Given the description of an element on the screen output the (x, y) to click on. 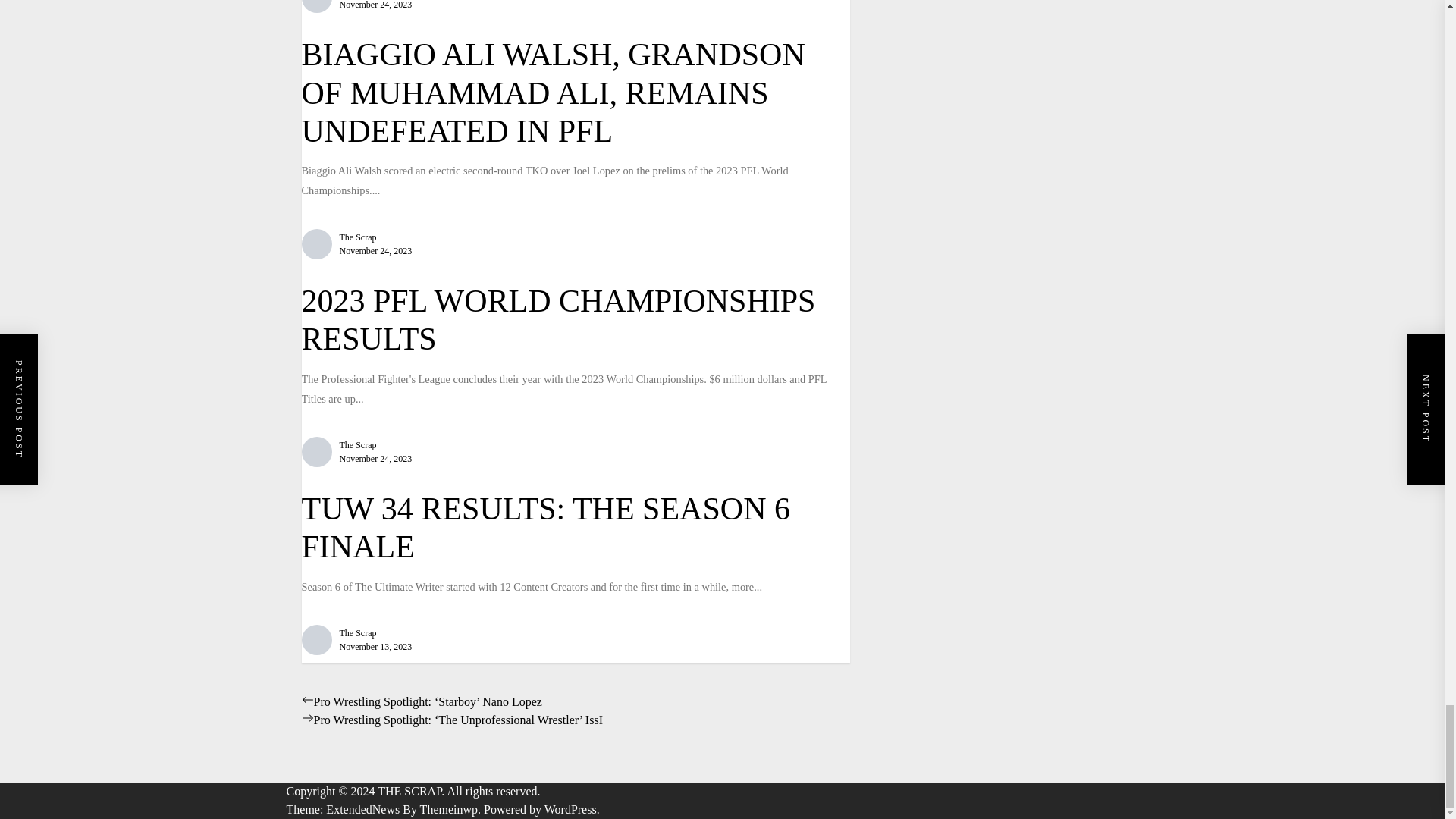
THE SCRAP (411, 790)
Themeinwp (451, 809)
WordPress (571, 809)
